Given the description of an element on the screen output the (x, y) to click on. 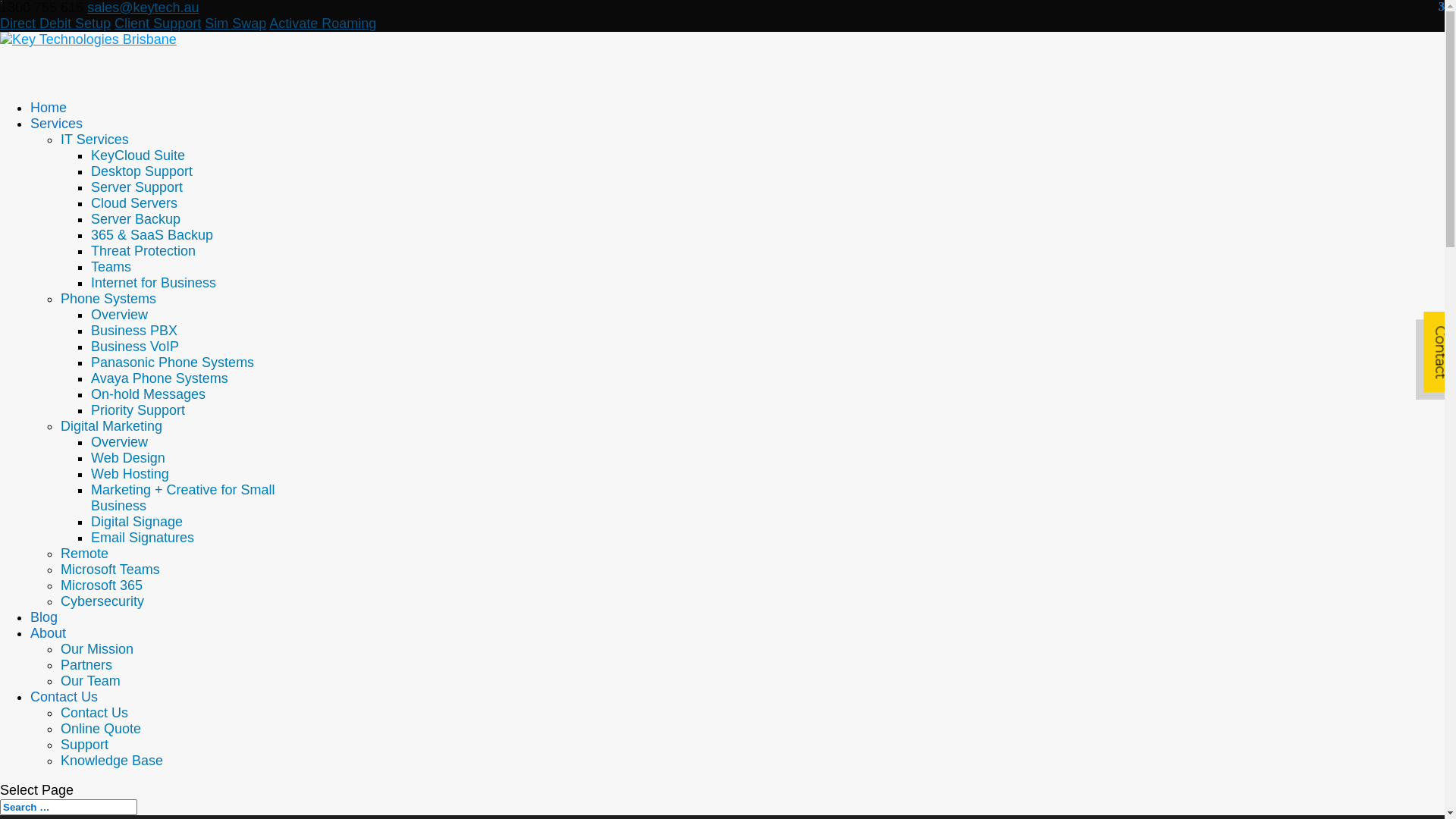
KeyCloud Suite Element type: text (138, 155)
Threat Protection Element type: text (143, 250)
Direct Debit Setup Element type: text (55, 23)
Activate Roaming Element type: text (322, 23)
Panasonic Phone Systems Element type: text (172, 362)
Digital Signage Element type: text (136, 521)
Contact Us Element type: text (63, 716)
Internet for Business Element type: text (153, 282)
Digital Marketing Element type: text (111, 425)
Server Support Element type: text (136, 186)
Overview Element type: text (119, 441)
Avaya Phone Systems Element type: text (159, 377)
Web Design Element type: text (128, 457)
Client Support Element type: text (157, 23)
Server Backup Element type: text (135, 218)
Remote Element type: text (84, 553)
About Element type: text (47, 652)
Services Element type: text (56, 142)
Online Quote Element type: text (100, 728)
IT Services Element type: text (94, 139)
Cloud Servers Element type: text (134, 202)
On-hold Messages Element type: text (148, 393)
Partners Element type: text (86, 664)
Knowledge Base Element type: text (111, 760)
Web Hosting Element type: text (130, 473)
Marketing + Creative for Small Business Element type: text (183, 497)
Business VoIP Element type: text (134, 346)
Microsoft Teams Element type: text (110, 569)
Cybersecurity Element type: text (102, 600)
Priority Support Element type: text (138, 409)
Sim Swap Element type: text (235, 23)
Support Element type: text (84, 744)
Blog Element type: text (43, 636)
Overview Element type: text (119, 314)
Home Element type: text (48, 126)
Search for: Element type: hover (68, 807)
365 & SaaS Backup Element type: text (152, 234)
Our Team Element type: text (90, 680)
Microsoft 365 Element type: text (101, 585)
Teams Element type: text (111, 266)
Contact Us Element type: text (94, 712)
Our Mission Element type: text (96, 648)
Desktop Support Element type: text (141, 170)
Email Signatures Element type: text (142, 537)
sales@keytech.au Element type: text (142, 7)
Business PBX Element type: text (134, 330)
Phone Systems Element type: text (108, 298)
